Given the description of an element on the screen output the (x, y) to click on. 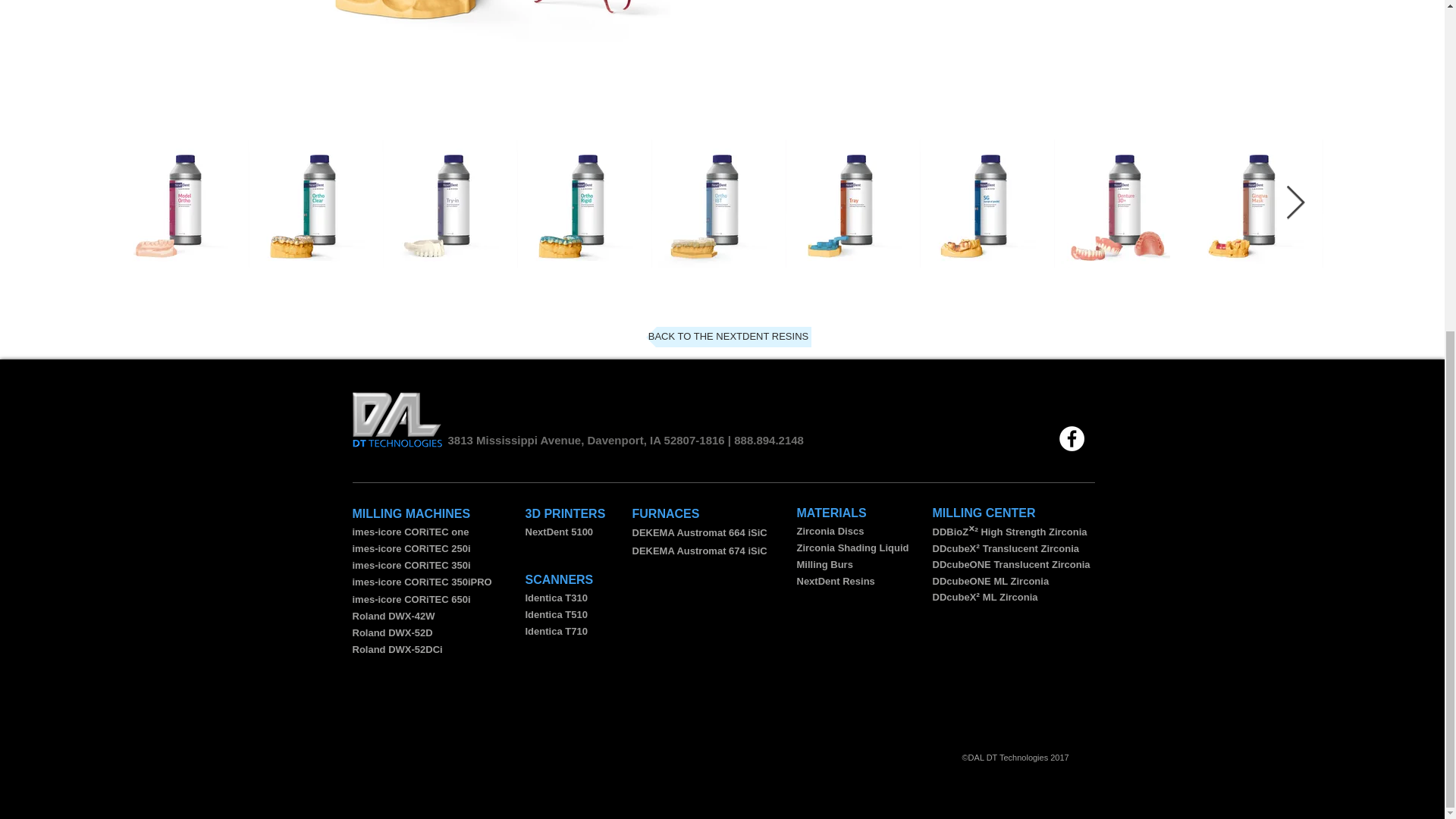
NextDent Cast (481, 24)
FURNACES (665, 513)
DEKEMA Austromat 664 iSiC (699, 531)
Roland DWX-42W (392, 615)
NextDent 5100 (558, 531)
Zirconia Discs (829, 531)
imes-icore CORiTEC 250i (411, 548)
Identica T510 (555, 614)
Roland DWX-52DCi (397, 649)
Milling Burs (823, 564)
